Given the description of an element on the screen output the (x, y) to click on. 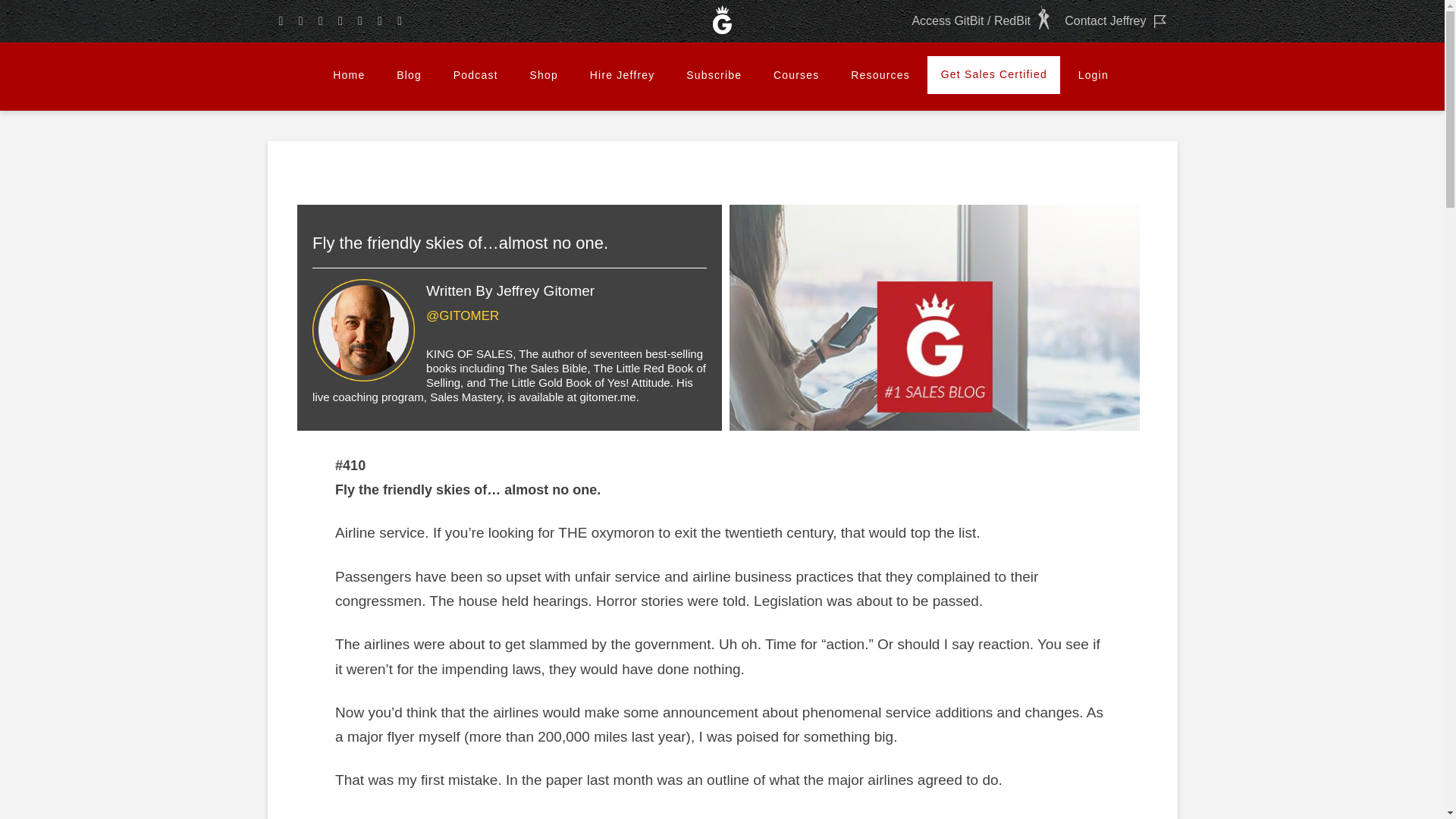
Hire Jeffrey (621, 75)
Home (348, 75)
Courses (795, 75)
Subscribe (713, 75)
Shop (543, 75)
Resources (879, 75)
Login (1093, 75)
Get Sales Certified (993, 75)
Blog (408, 75)
Podcast (475, 75)
